Given the description of an element on the screen output the (x, y) to click on. 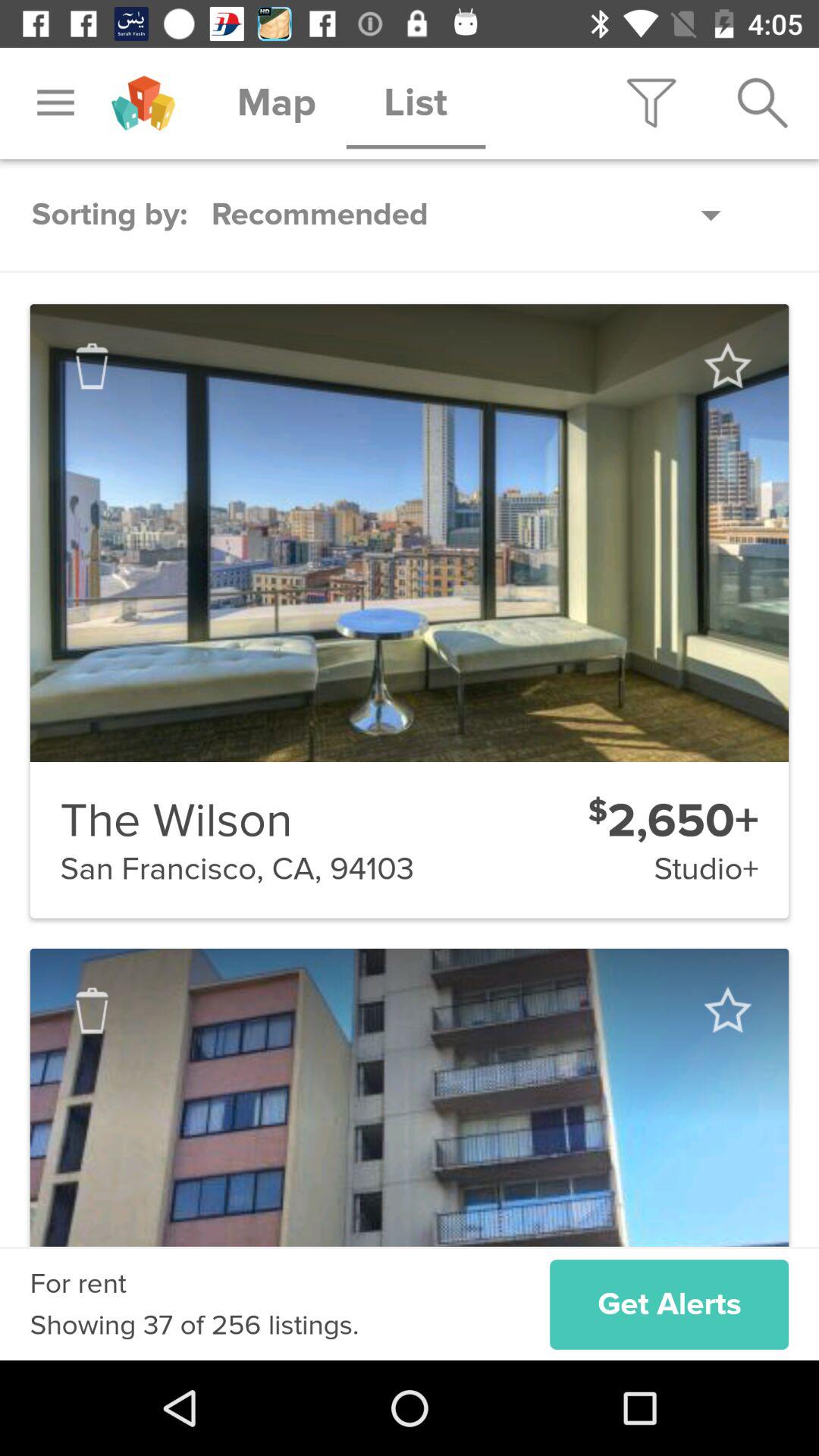
move to trash (92, 1010)
